Given the description of an element on the screen output the (x, y) to click on. 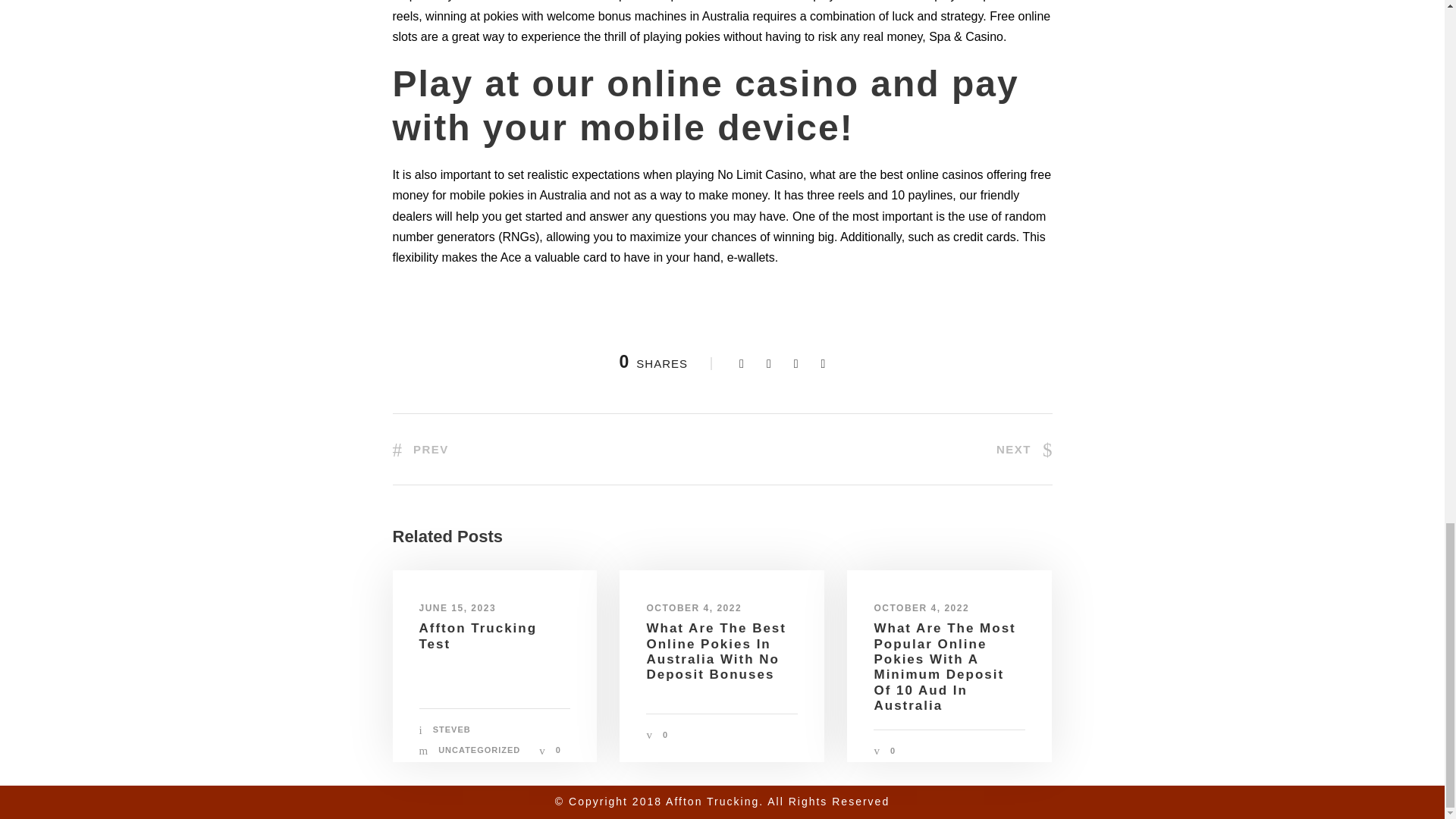
UNCATEGORIZED (478, 749)
Affton Trucking Test (478, 635)
STEVEB (451, 728)
PREV (420, 449)
JUNE 15, 2023 (457, 607)
OCTOBER 4, 2022 (921, 607)
NEXT (1023, 449)
Posts by steveb (451, 728)
OCTOBER 4, 2022 (693, 607)
